Given the description of an element on the screen output the (x, y) to click on. 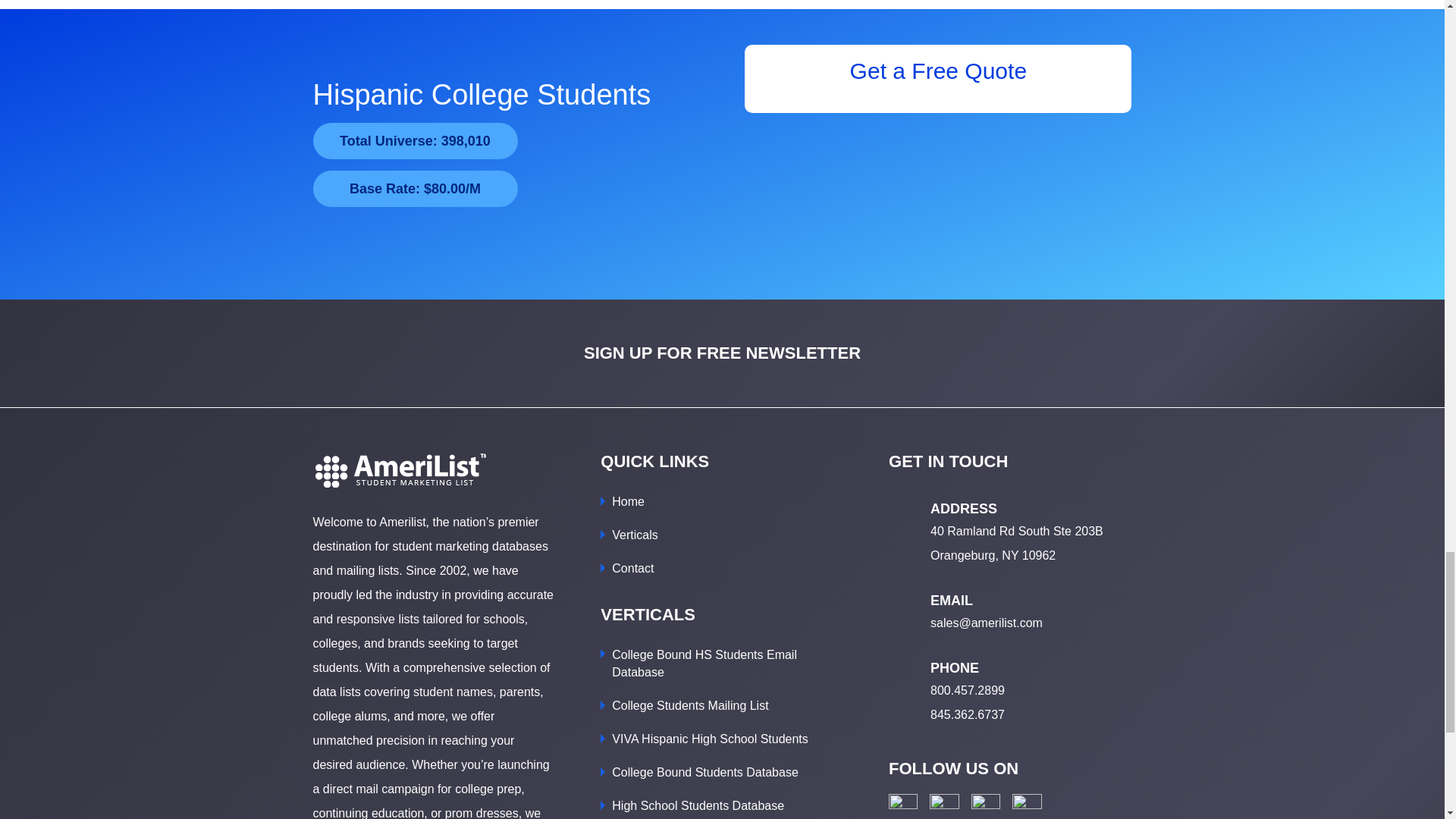
twitter (944, 806)
VIVA Hispanic High School Students (709, 738)
Student Marketing List (398, 470)
College Bound Students Database (704, 771)
College Bound HS Students Email Database (703, 663)
Verticals (634, 534)
Home (628, 501)
linkedin (985, 806)
800.457.2899 (967, 689)
College Students Mailing List (689, 705)
email (1026, 806)
High School Students Database (697, 805)
facebook (902, 806)
845.362.6737 (967, 714)
Contact (632, 567)
